Given the description of an element on the screen output the (x, y) to click on. 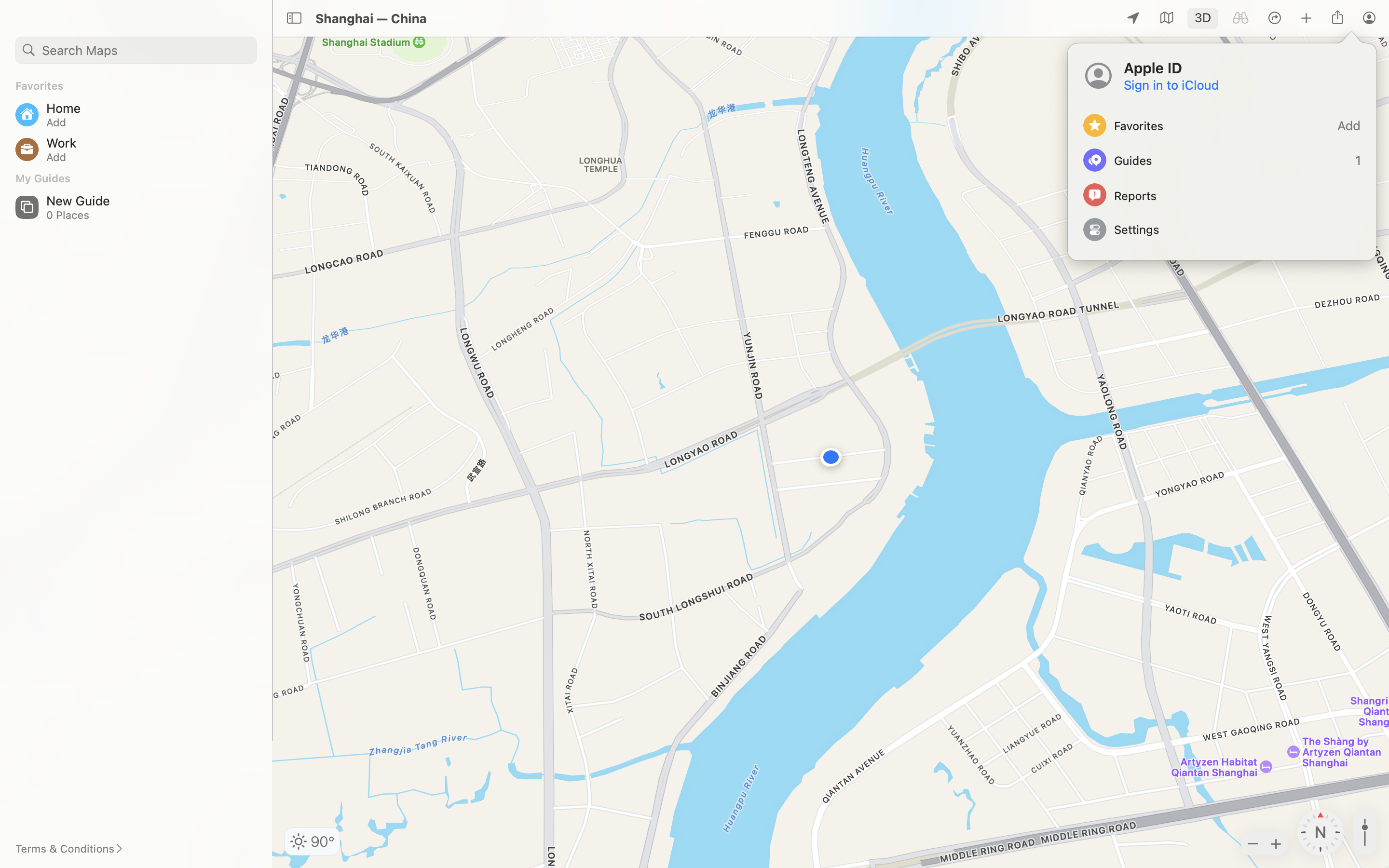
Heading: 0 degrees North Element type: AXButton (1320, 832)
